Given the description of an element on the screen output the (x, y) to click on. 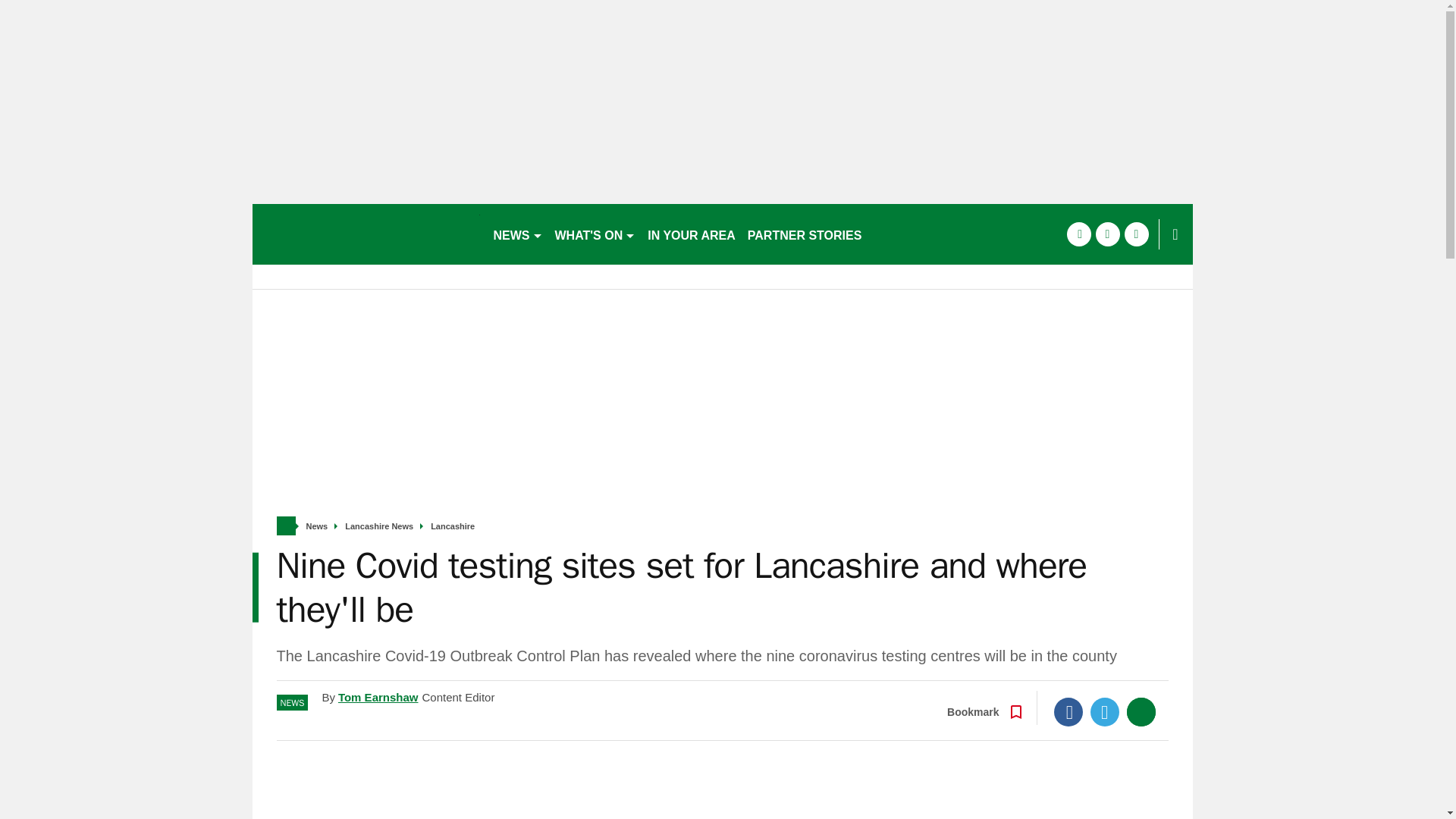
PARTNER STORIES (804, 233)
facebook (1077, 233)
WHAT'S ON (595, 233)
Facebook (1068, 711)
IN YOUR AREA (691, 233)
NEWS (517, 233)
twitter (1106, 233)
instagram (1136, 233)
accrington (365, 233)
Twitter (1104, 711)
